Given the description of an element on the screen output the (x, y) to click on. 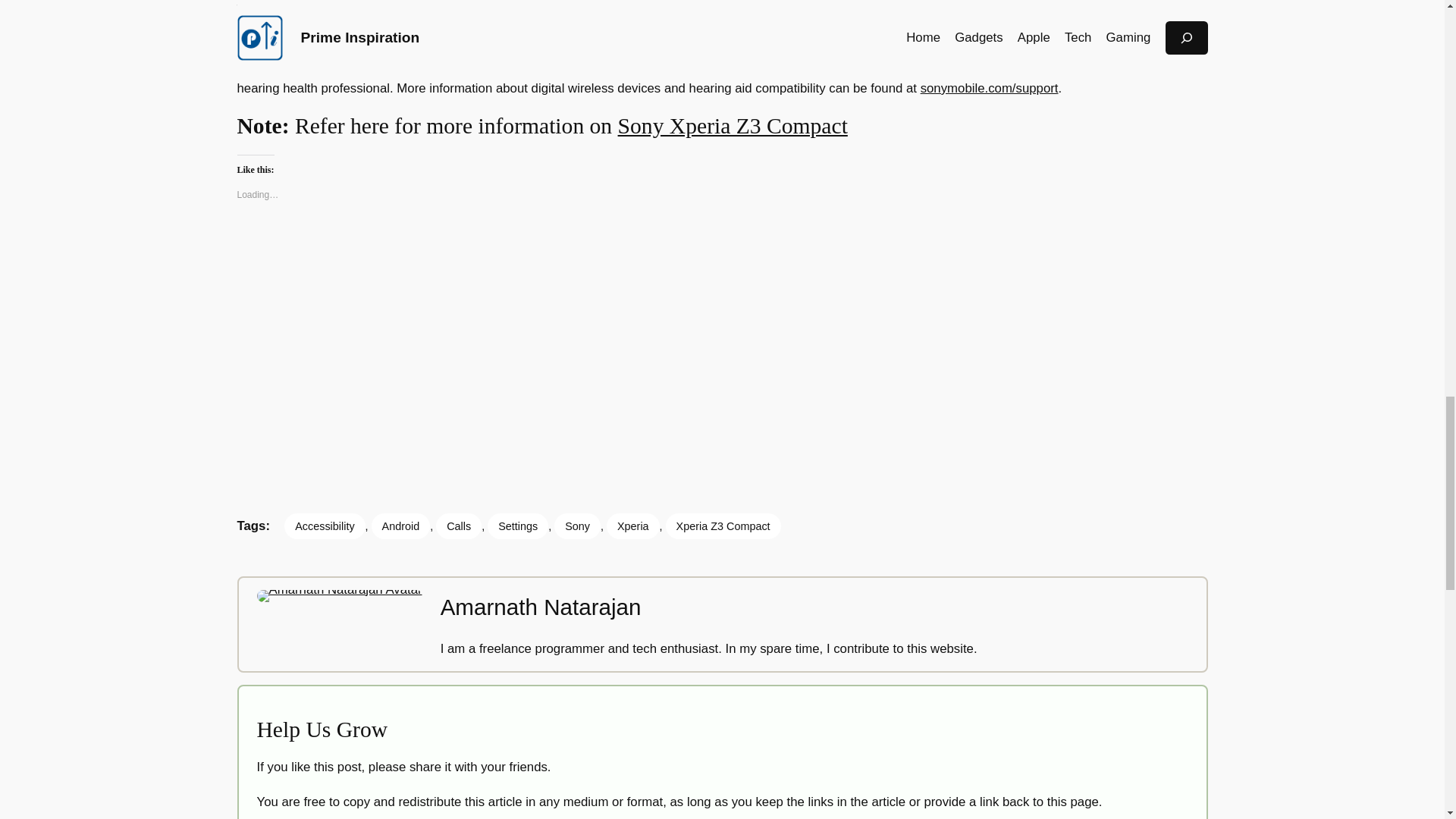
Android (400, 525)
Sony (576, 525)
Calls (458, 525)
Accessibility (324, 525)
Sony Xperia Z3 Compact (732, 125)
Xperia Z3 Compact (722, 525)
Xperia (633, 525)
Settings (517, 525)
Amarnath Natarajan (541, 606)
